Given the description of an element on the screen output the (x, y) to click on. 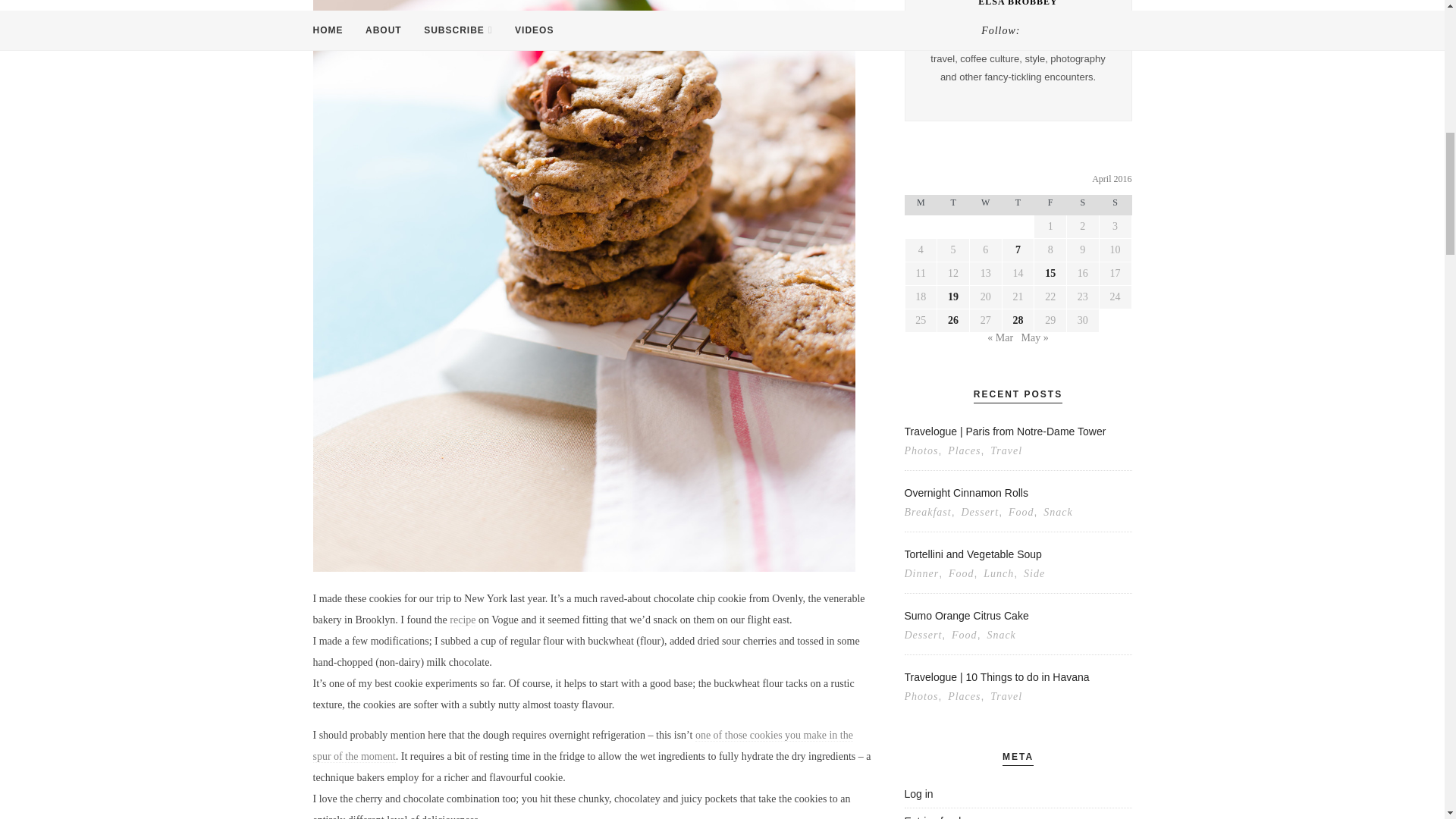
recipe (462, 620)
one of those cookies you make in the spur of the moment (582, 745)
